Given the description of an element on the screen output the (x, y) to click on. 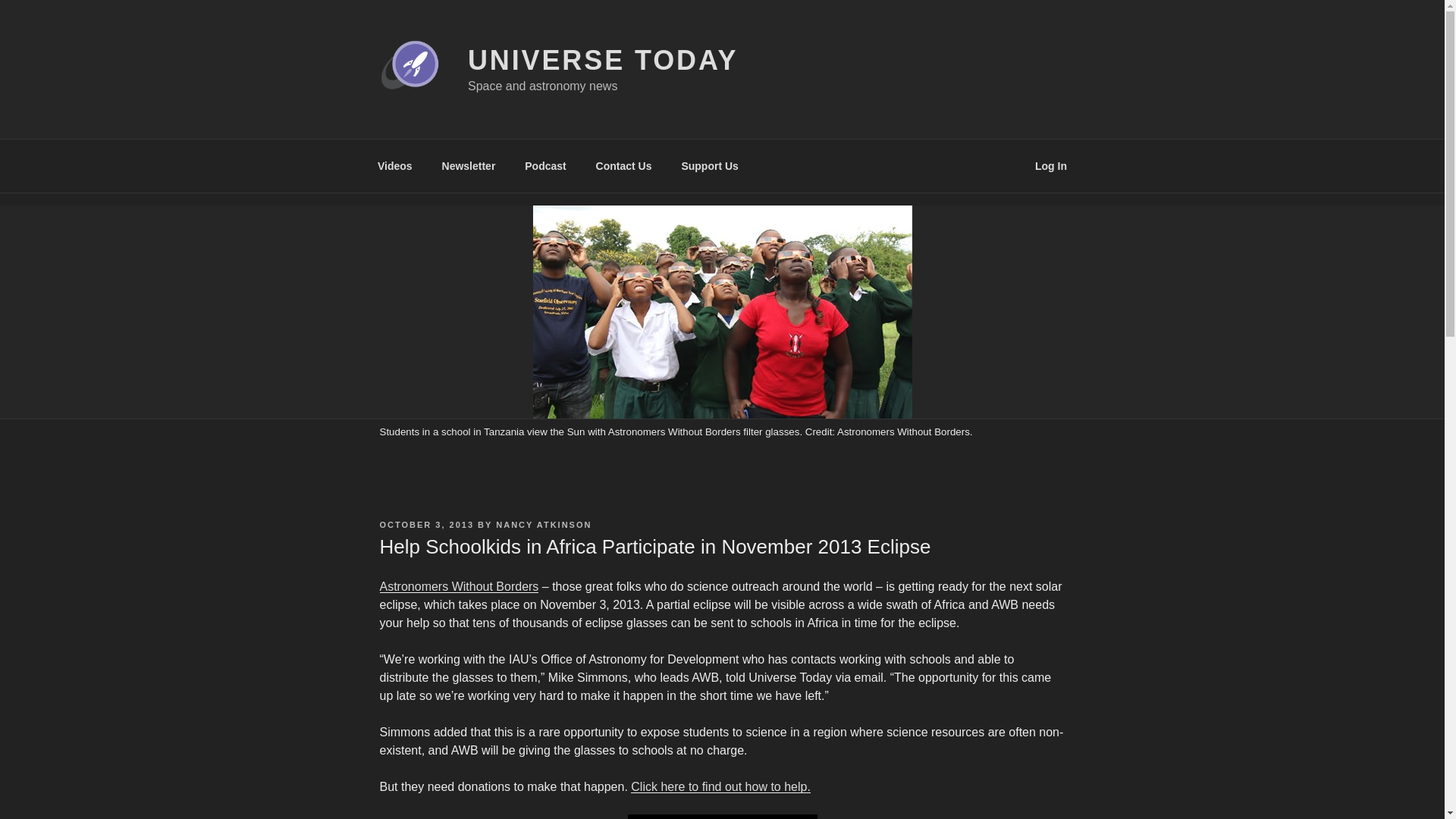
Videos (394, 165)
Log In (1051, 165)
NANCY ATKINSON (543, 524)
Astronomers Without Borders (458, 585)
Click here to find out how to help. (720, 786)
OCTOBER 3, 2013 (426, 524)
Newsletter (468, 165)
Podcast (545, 165)
Support Us (709, 165)
Contact Us (623, 165)
UNIVERSE TODAY (602, 60)
